Given the description of an element on the screen output the (x, y) to click on. 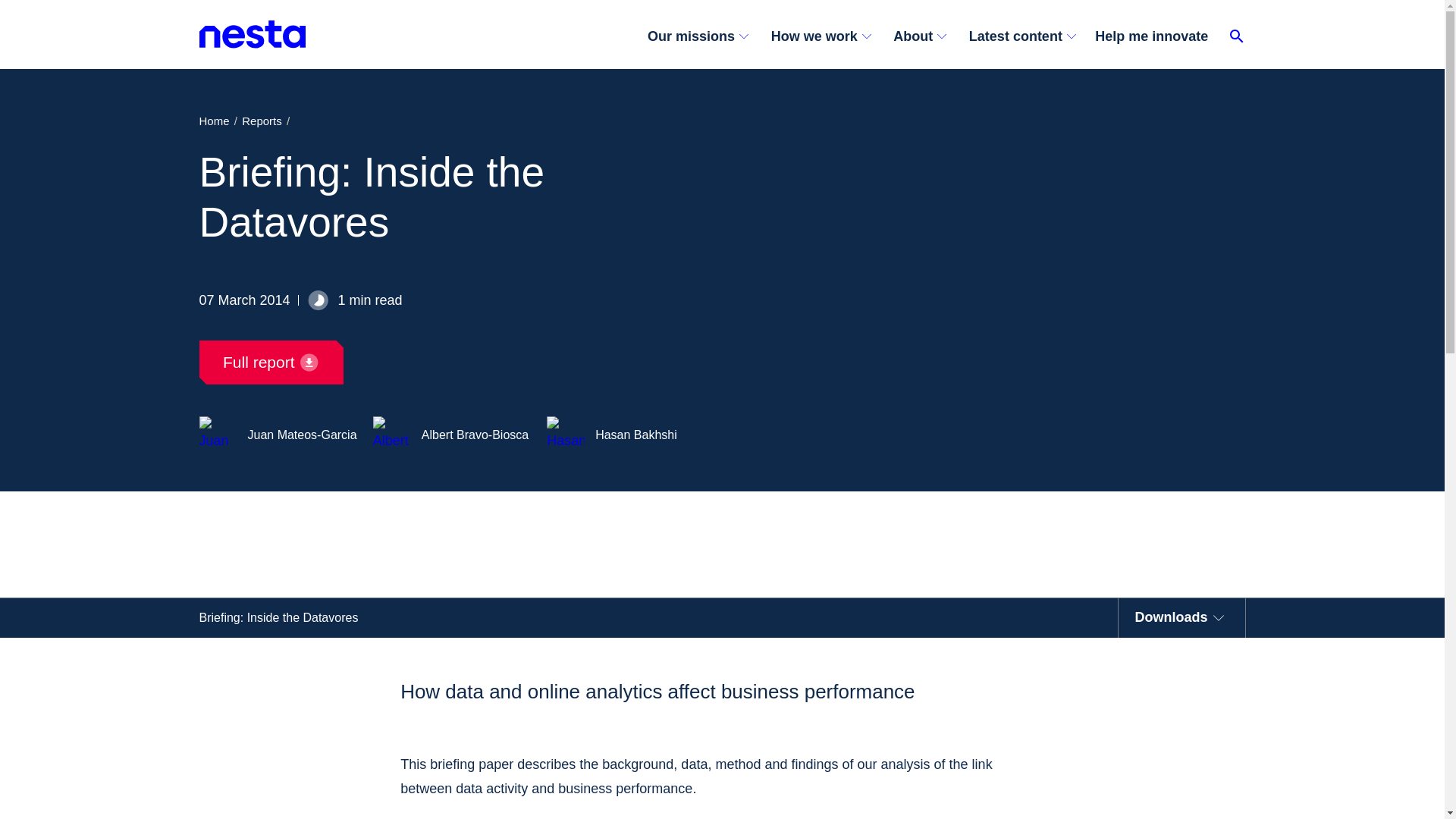
Latest content (1021, 36)
About (918, 36)
How we work (819, 36)
Help me innovate (1156, 36)
Our missions (702, 36)
Home (213, 120)
Reports (261, 120)
